Given the description of an element on the screen output the (x, y) to click on. 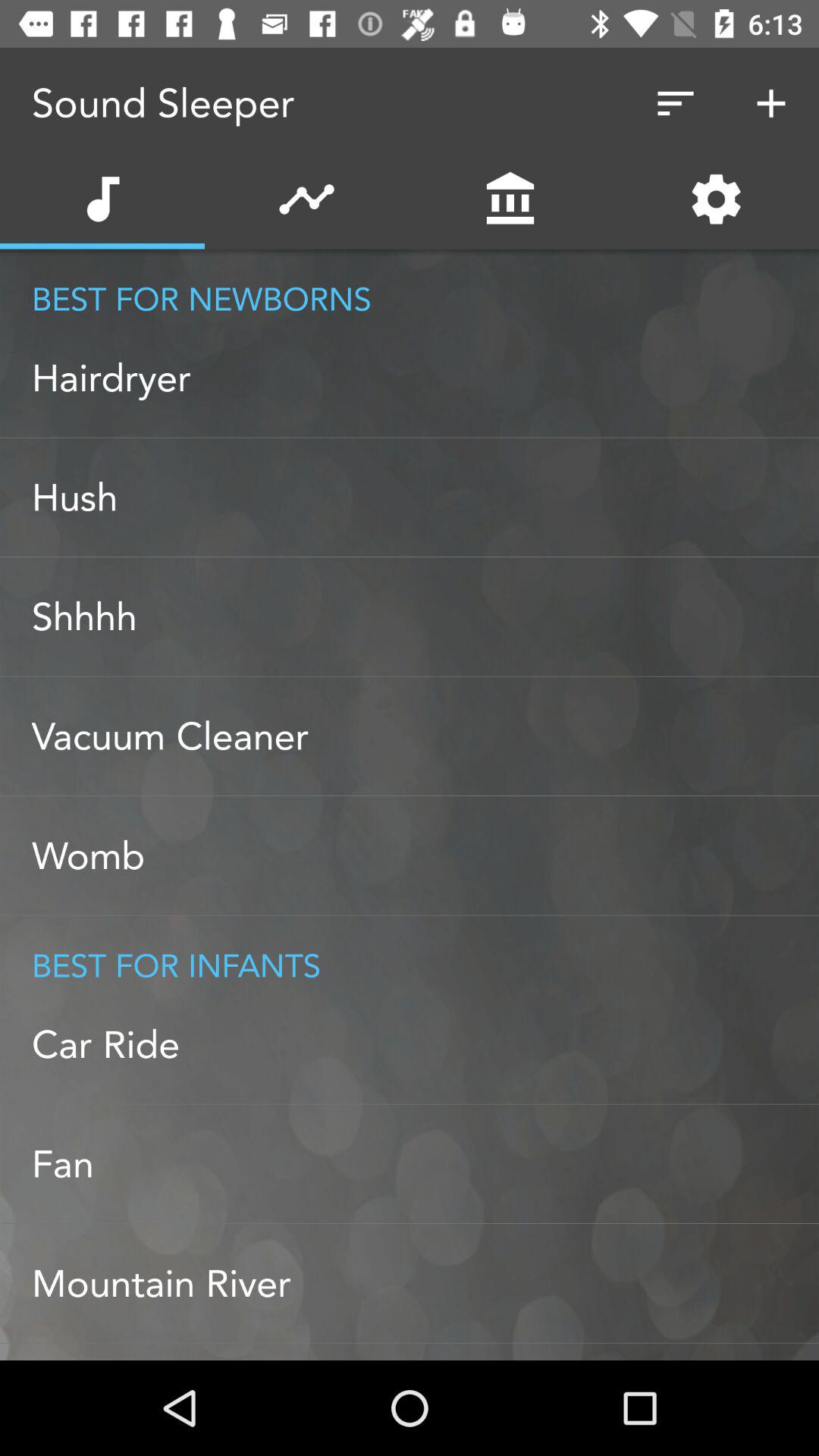
turn on the item to the right of the sound sleeper icon (675, 103)
